Given the description of an element on the screen output the (x, y) to click on. 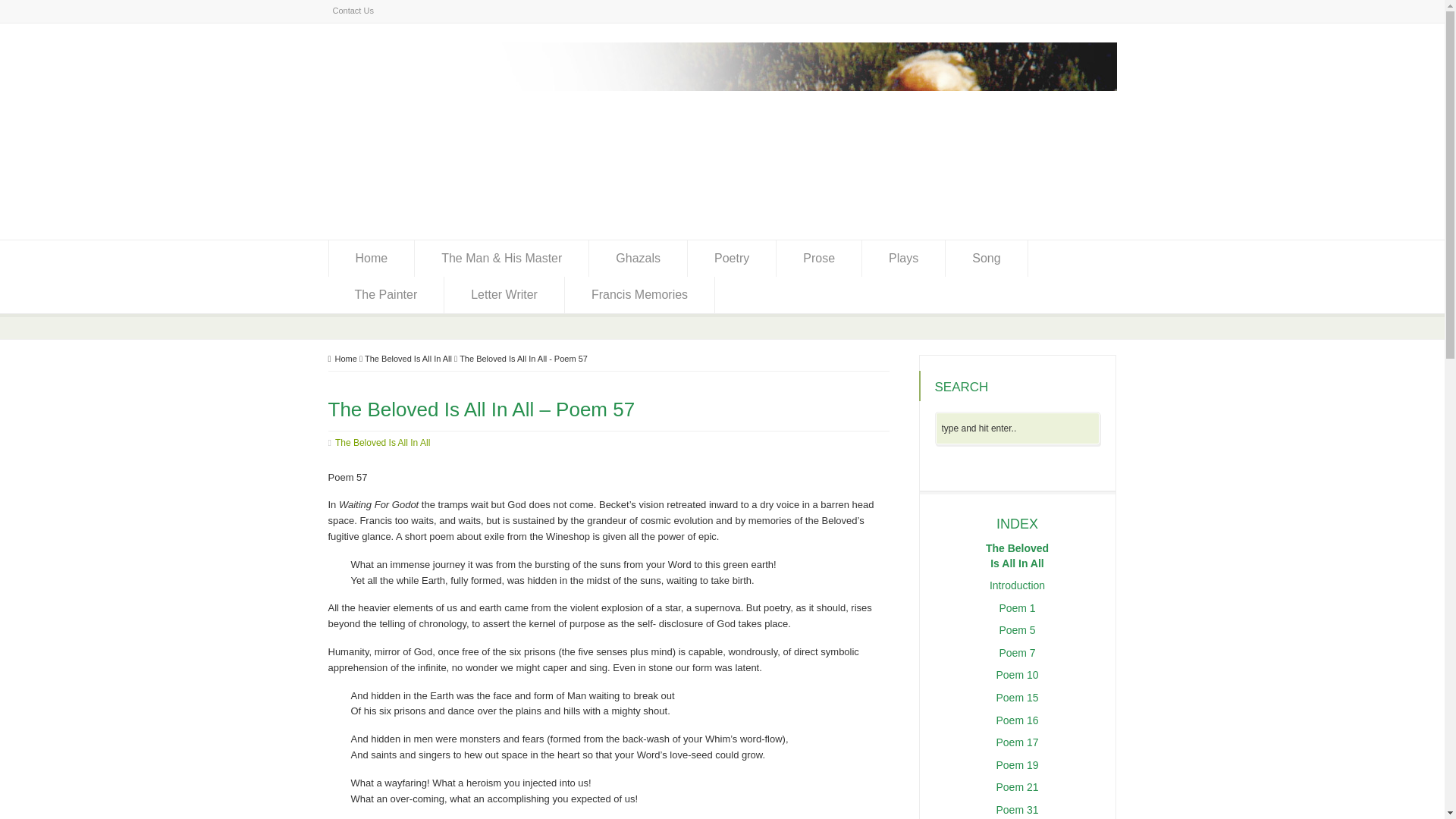
Contact Us (351, 10)
Ghazals (638, 258)
Letter Writer (504, 294)
The Beloved Is All In All (381, 443)
Home (371, 258)
The Painter (385, 294)
Francis Memories (639, 294)
Poem 1 (1016, 607)
Poem 7 (1016, 653)
Francis Brabazon (721, 211)
